Given the description of an element on the screen output the (x, y) to click on. 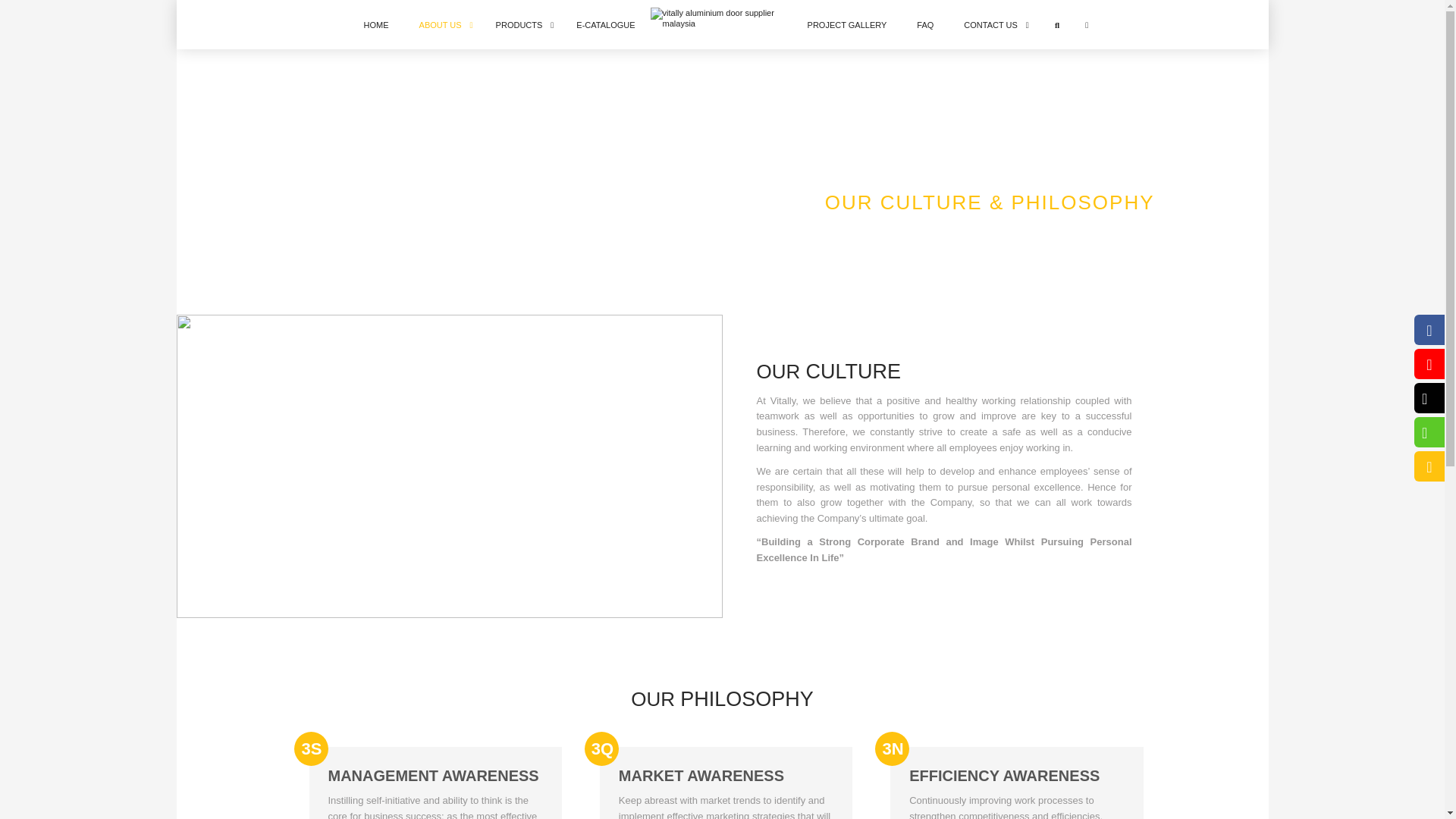
FAQ (925, 24)
PROJECT GALLERY (847, 24)
E-CATALOGUE (604, 24)
CONTACT US (992, 24)
HOME (376, 24)
ABOUT US (442, 24)
PRODUCTS (521, 24)
Search (1056, 24)
